Given the description of an element on the screen output the (x, y) to click on. 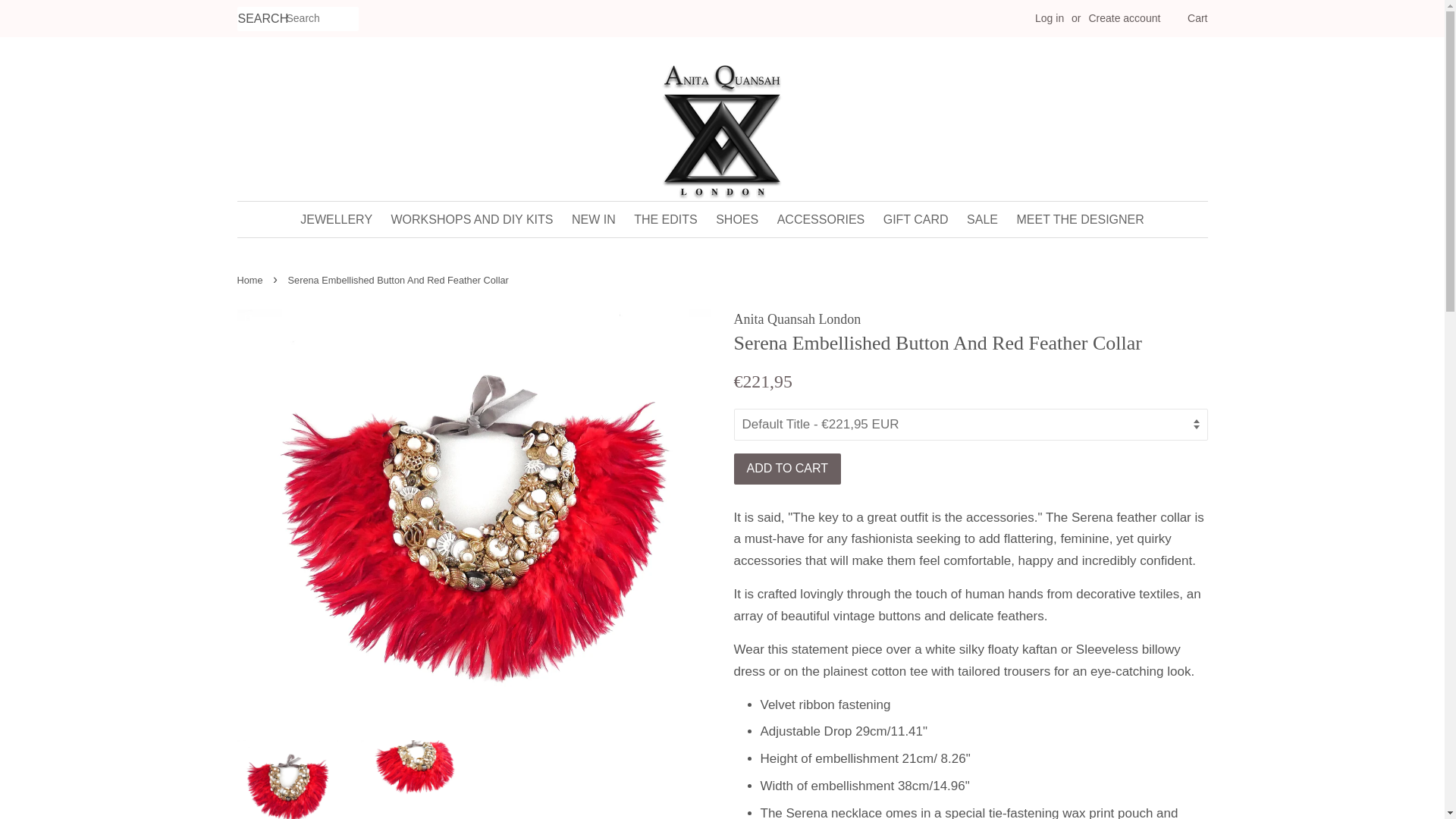
Cart (1197, 18)
SEARCH (260, 18)
Create account (1123, 18)
Log in (1049, 18)
Back to the frontpage (250, 279)
